Given the description of an element on the screen output the (x, y) to click on. 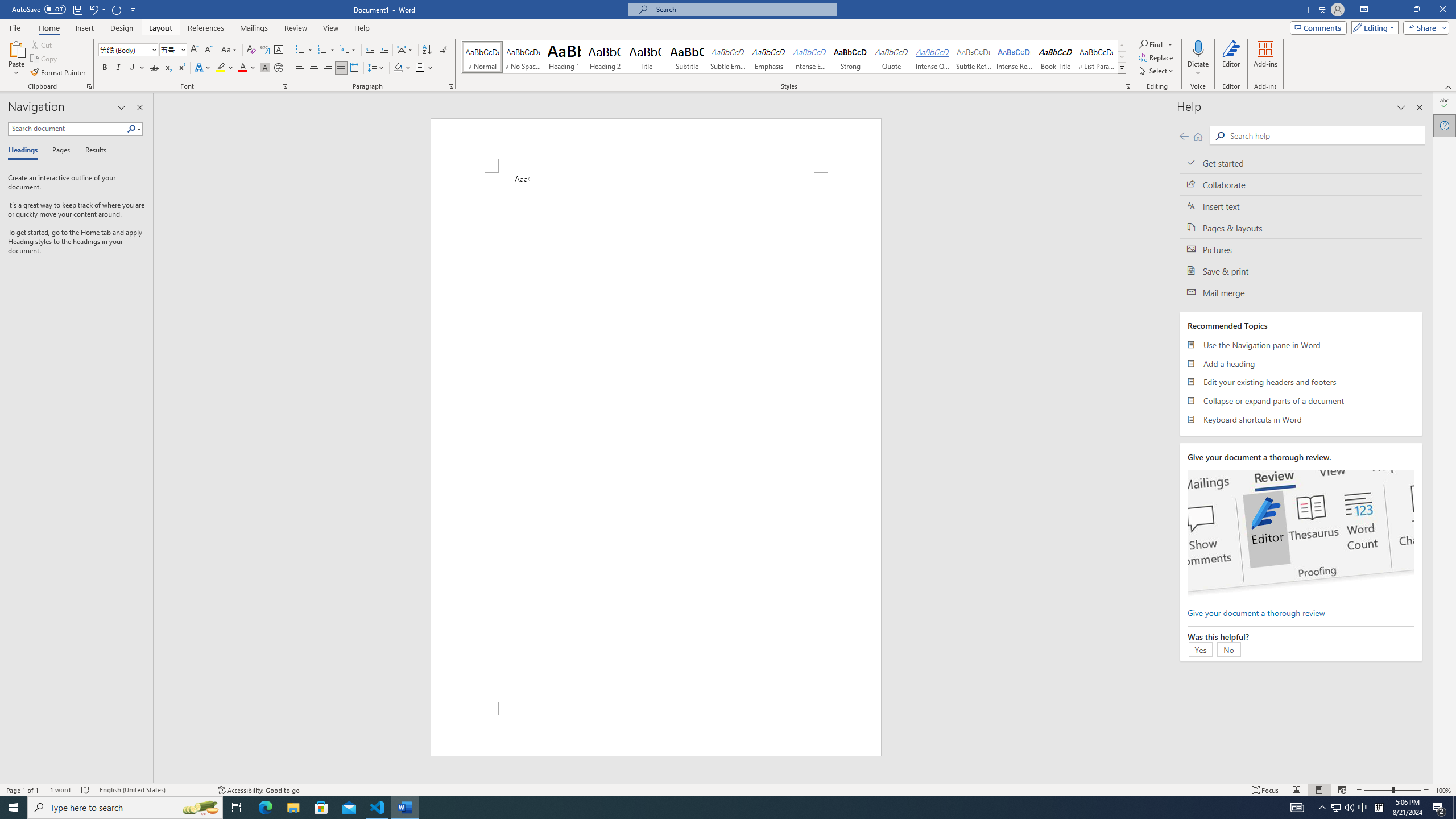
Subtle Emphasis (727, 56)
Center (313, 67)
Microsoft search (742, 9)
Previous page (1183, 136)
AutomationID: QuickStylesGallery (794, 56)
Distributed (354, 67)
Save & print (1300, 270)
Row Down (1121, 56)
Font... (285, 85)
